Given the description of an element on the screen output the (x, y) to click on. 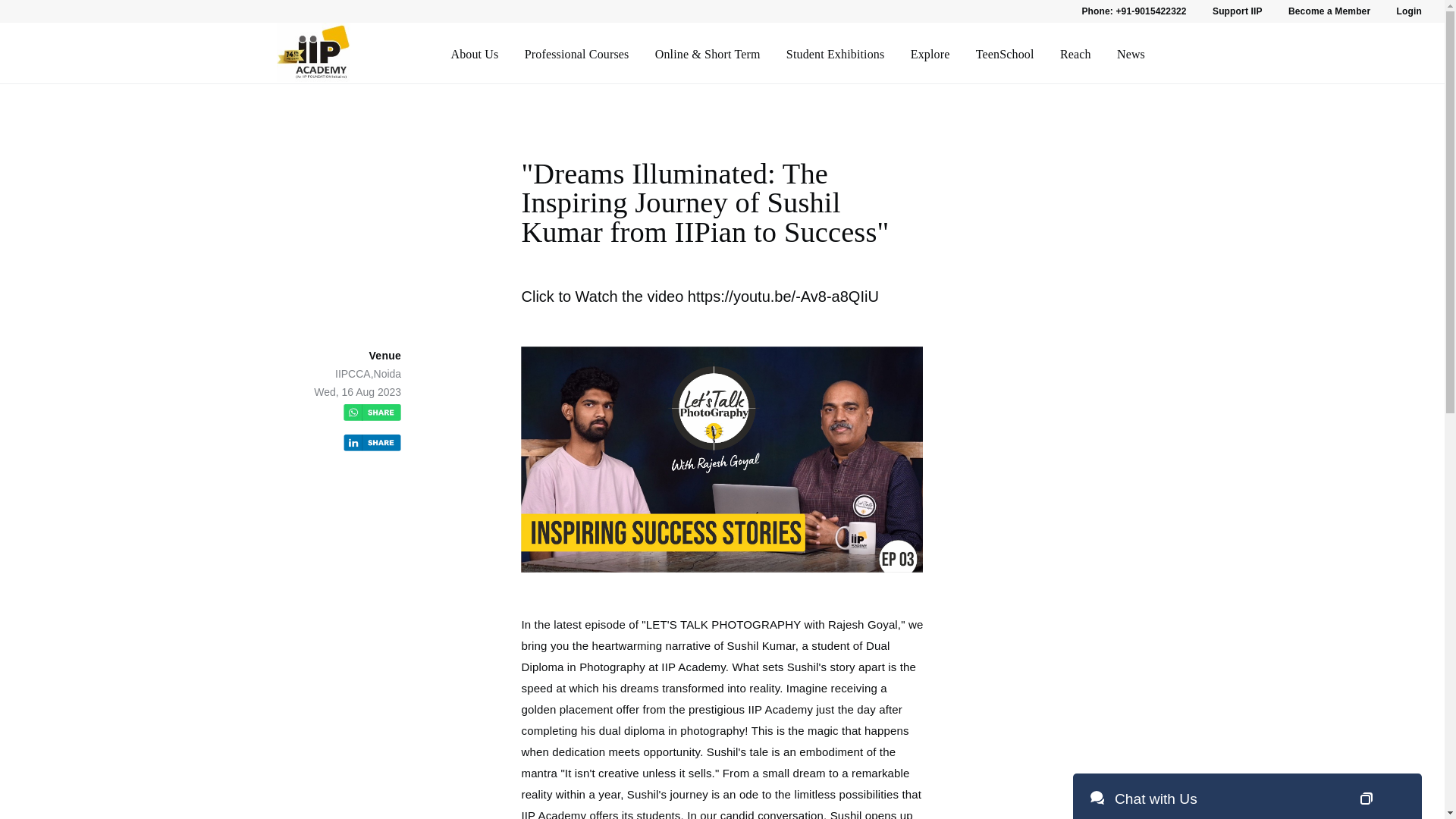
Become a Member (1329, 11)
Venue (384, 355)
Student Exhibitions (835, 53)
Share on LinkedIn (372, 444)
About Us (473, 53)
Professional Courses (576, 53)
TeenSchool (1004, 53)
Support IIP (1237, 11)
Login (1409, 11)
